Given the description of an element on the screen output the (x, y) to click on. 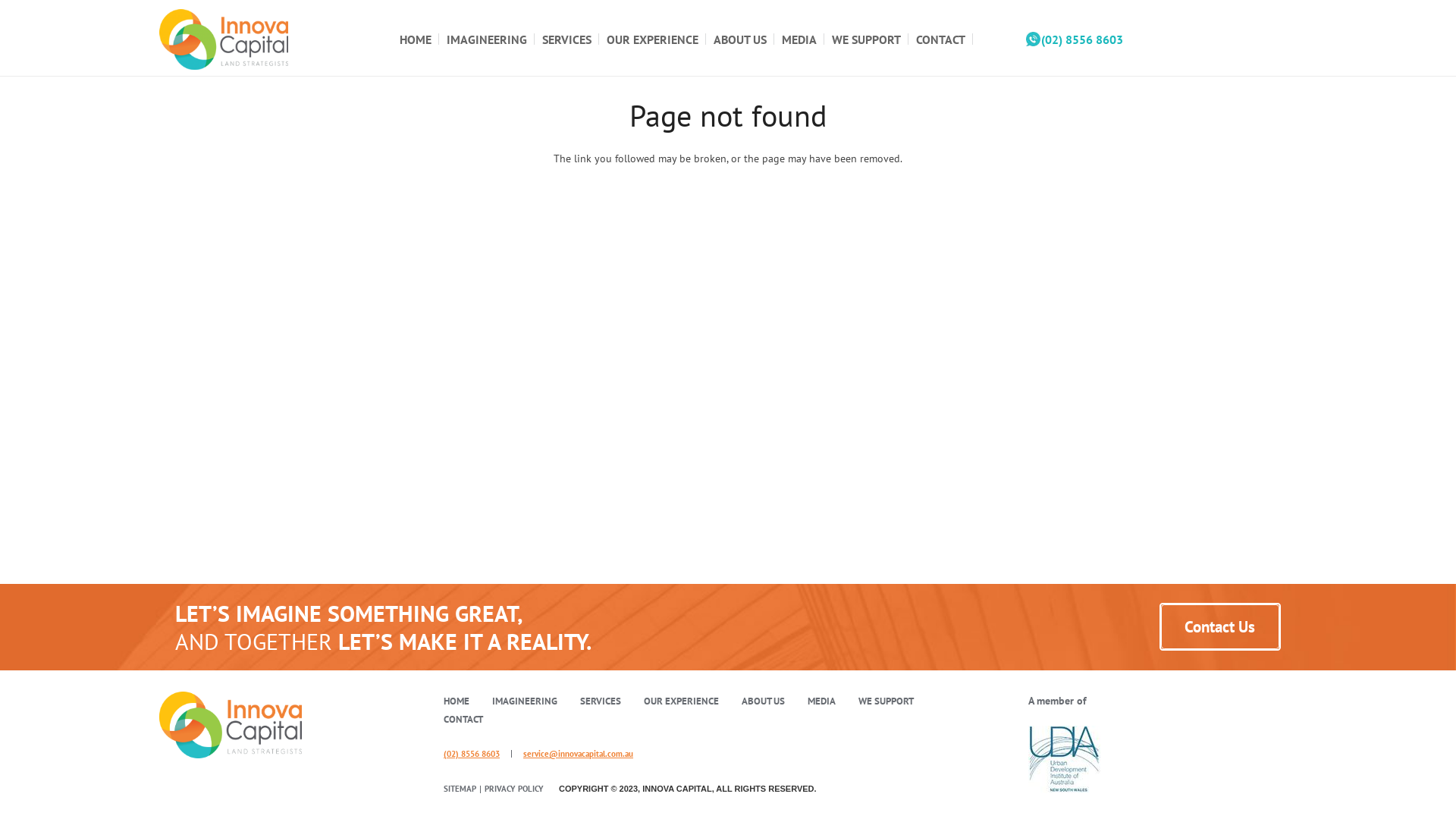
(02) 8556 8603 Element type: text (1074, 38)
SITEMAP Element type: text (459, 788)
Contact Us Element type: text (1219, 626)
CONTACT Element type: text (463, 718)
service@innovacapital.com.au Element type: text (578, 753)
MEDIA Element type: text (799, 38)
(02) 8556 8603 Element type: text (471, 753)
MEDIA Element type: text (821, 700)
HOME Element type: text (415, 38)
IMAGINEERING Element type: text (524, 700)
OUR EXPERIENCE Element type: text (652, 38)
ABOUT US Element type: text (740, 38)
CONTACT Element type: text (940, 38)
SERVICES Element type: text (600, 700)
ABOUT US Element type: text (762, 700)
WE SUPPORT Element type: text (885, 700)
SERVICES Element type: text (566, 38)
PRIVACY POLICY Element type: text (513, 788)
IMAGINEERING Element type: text (486, 38)
WE SUPPORT Element type: text (866, 38)
OUR EXPERIENCE Element type: text (680, 700)
HOME Element type: text (456, 700)
